Given the description of an element on the screen output the (x, y) to click on. 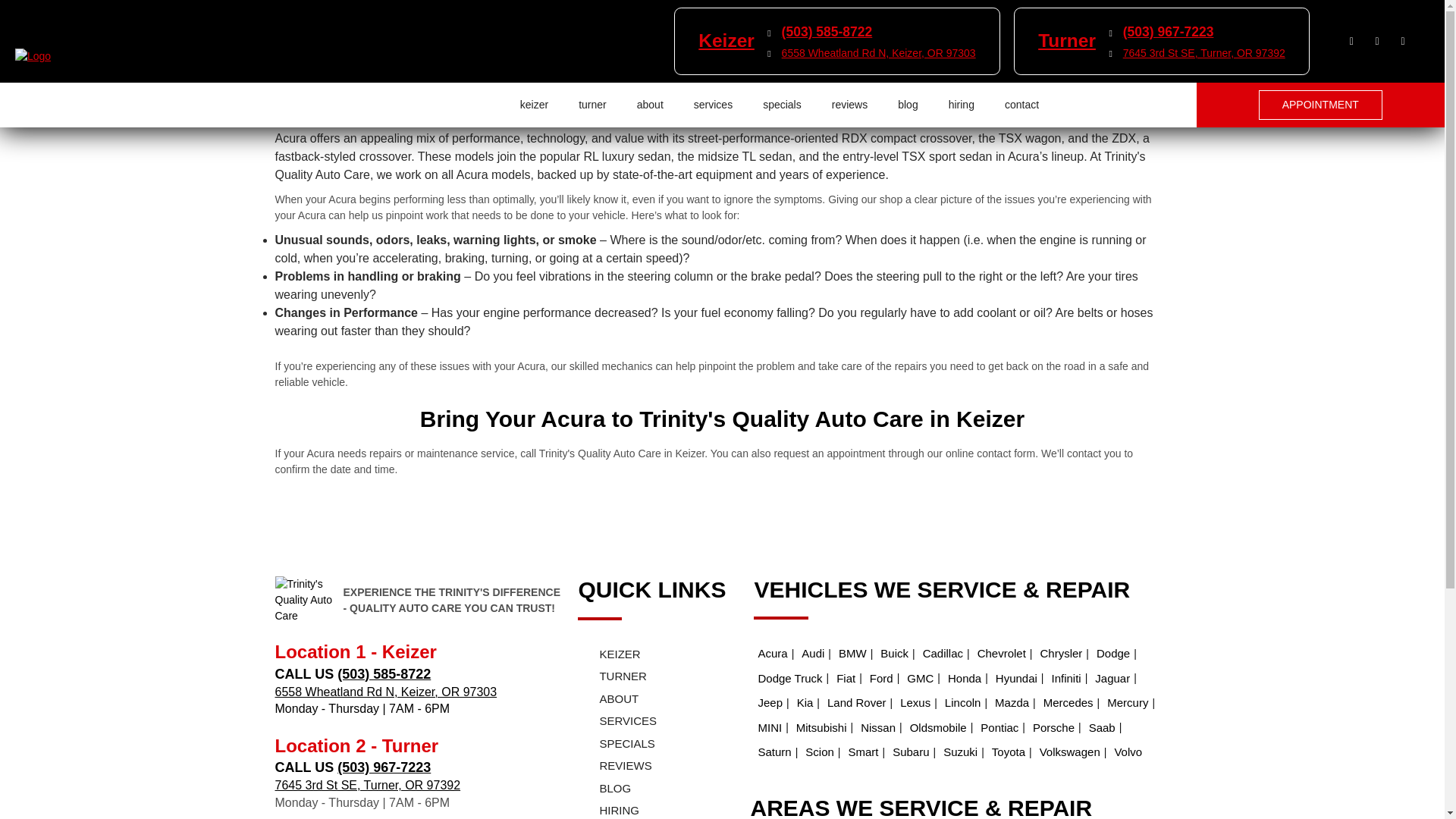
7645 3rd St SE, Turner, OR 97392 (367, 785)
specials (782, 105)
SERVICES (641, 721)
7645 3rd St SE, Turner, OR 97392 (1203, 52)
contact (1021, 105)
Chevrolet (1001, 653)
Chrysler (1060, 653)
services (713, 105)
KEIZER (641, 654)
hiring (961, 105)
SPECIALS (641, 743)
reviews (849, 105)
Keizer (726, 40)
Turner (1067, 40)
Acura (772, 653)
